Given the description of an element on the screen output the (x, y) to click on. 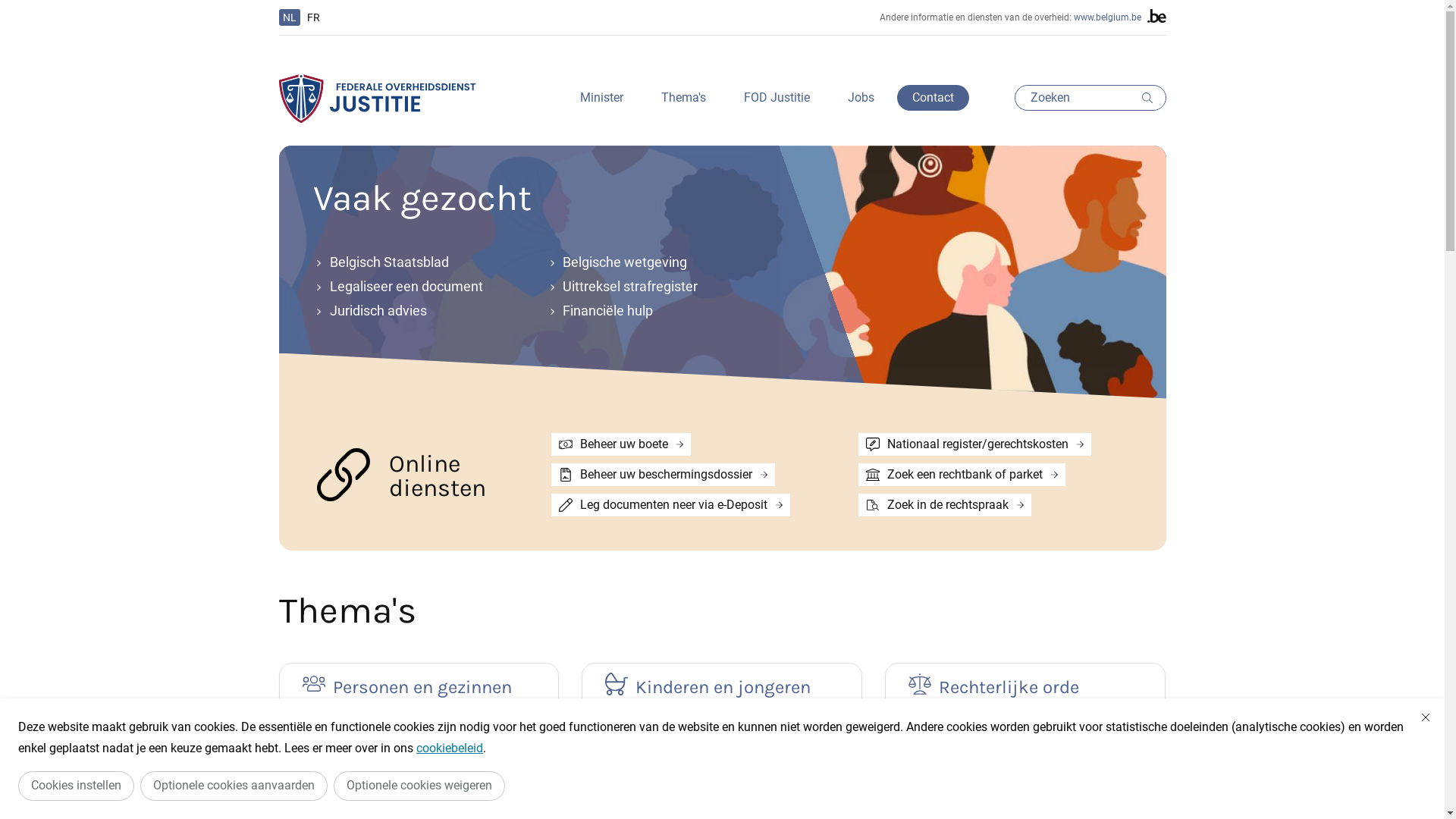
Nationaal register/gerechtskosten Element type: text (974, 444)
Zoeken Element type: hover (1090, 97)
Sluiten Element type: hover (1425, 717)
Belgisch Staatsblad Element type: text (411, 262)
Belgische wetgeving Element type: text (645, 262)
Uittreksel strafregister Element type: text (645, 286)
Naamsverandering Element type: text (418, 742)
Apply Element type: text (1150, 97)
Overslaan en naar de inhoud gaan Element type: text (7, 4)
Terugkeren naar de startpagina van FOD Justitie Element type: hover (377, 97)
www.belgium.be Element type: text (1107, 17)
Zoek in de rechtspraak Element type: text (944, 504)
Beheer uw boete Element type: text (620, 444)
Legaliseer een document Element type: text (411, 286)
Optionele cookies aanvaarden Element type: text (233, 785)
Contact Element type: text (932, 97)
cookiebeleid Element type: text (449, 747)
Juridisch advies Element type: text (411, 310)
Kinderen en jongeren Element type: text (721, 685)
Nationaliteit Element type: text (418, 718)
Optionele cookies weigeren Element type: text (419, 785)
FOD Justitie Element type: text (776, 97)
Afstamming Element type: text (721, 718)
Cookies instellen Element type: text (76, 785)
Jobs Element type: text (860, 97)
NL Element type: text (289, 17)
Minister Element type: text (600, 97)
Thema's Element type: text (683, 97)
Meer Element type: text (418, 765)
Rechterlijke orde Element type: text (1025, 685)
Meer Element type: text (1025, 765)
Openbaar Ministerie Element type: text (1025, 742)
Hoven en rechtbanken Element type: text (1025, 718)
Personen en gezinnen Element type: text (418, 685)
Adoptie Element type: text (721, 742)
Beheer uw beschermingsdossier Element type: text (663, 474)
Zoek een rechtbank of parket Element type: text (961, 474)
Meer Element type: text (721, 765)
Leg documenten neer via e-Deposit Element type: text (670, 504)
FR Element type: text (313, 17)
